Given the description of an element on the screen output the (x, y) to click on. 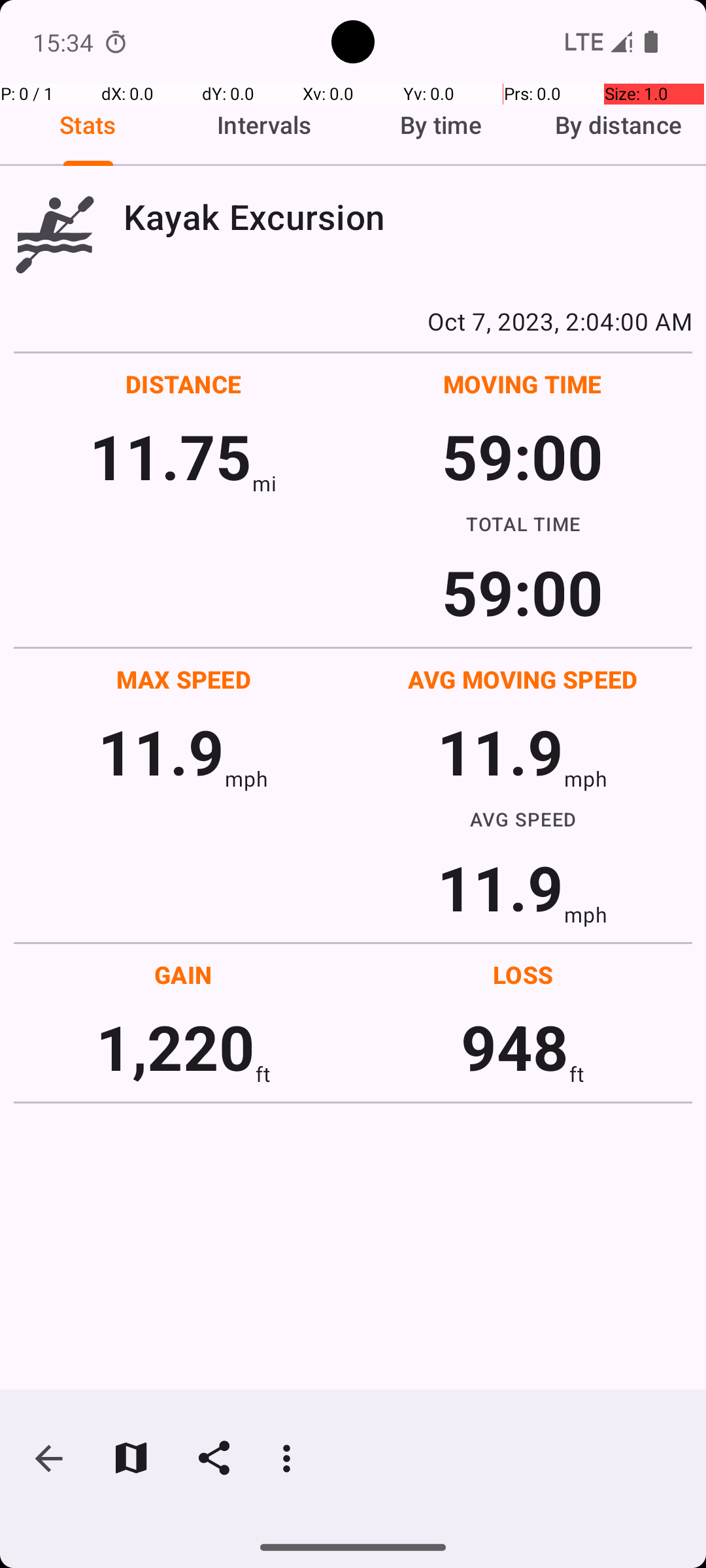
Kayak Excursion Element type: android.widget.TextView (407, 216)
Oct 7, 2023, 2:04:00 AM Element type: android.widget.TextView (352, 320)
11.75 Element type: android.widget.TextView (170, 455)
59:00 Element type: android.widget.TextView (522, 455)
11.9 Element type: android.widget.TextView (161, 750)
1,220 Element type: android.widget.TextView (175, 1045)
948 Element type: android.widget.TextView (514, 1045)
